Given the description of an element on the screen output the (x, y) to click on. 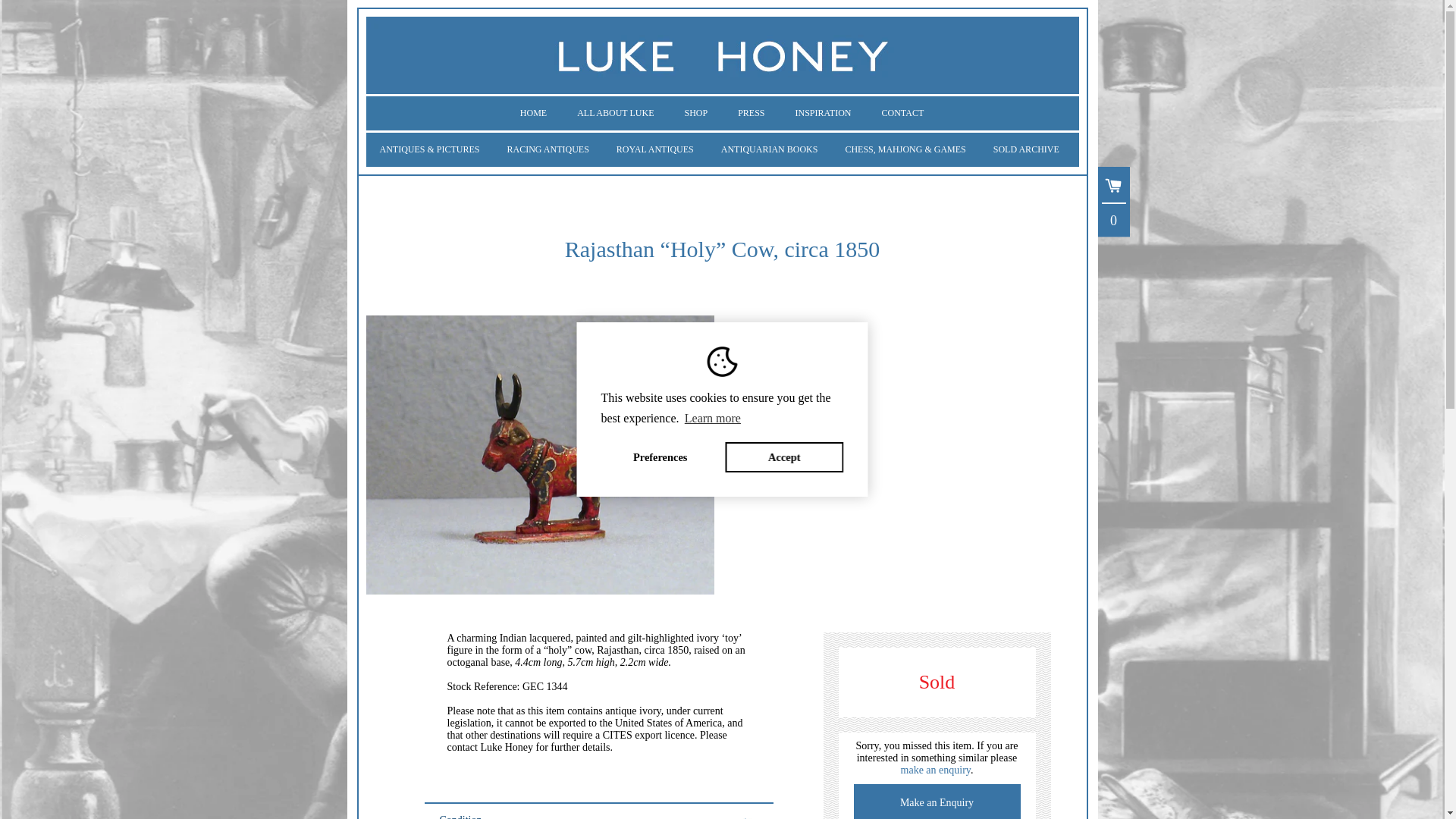
CONTACT (902, 113)
PRESS (750, 113)
make an enquiry (936, 769)
INSPIRATION (823, 113)
SHOP (695, 113)
RACING ANTIQUES (547, 149)
Preferences (659, 457)
Make an Enquiry (936, 801)
ROYAL ANTIQUES (654, 149)
SOLD ARCHIVE (1026, 149)
Accept (784, 457)
ALL ABOUT LUKE (615, 113)
Learn more (713, 418)
HOME (533, 113)
ANTIQUARIAN BOOKS (769, 149)
